Given the description of an element on the screen output the (x, y) to click on. 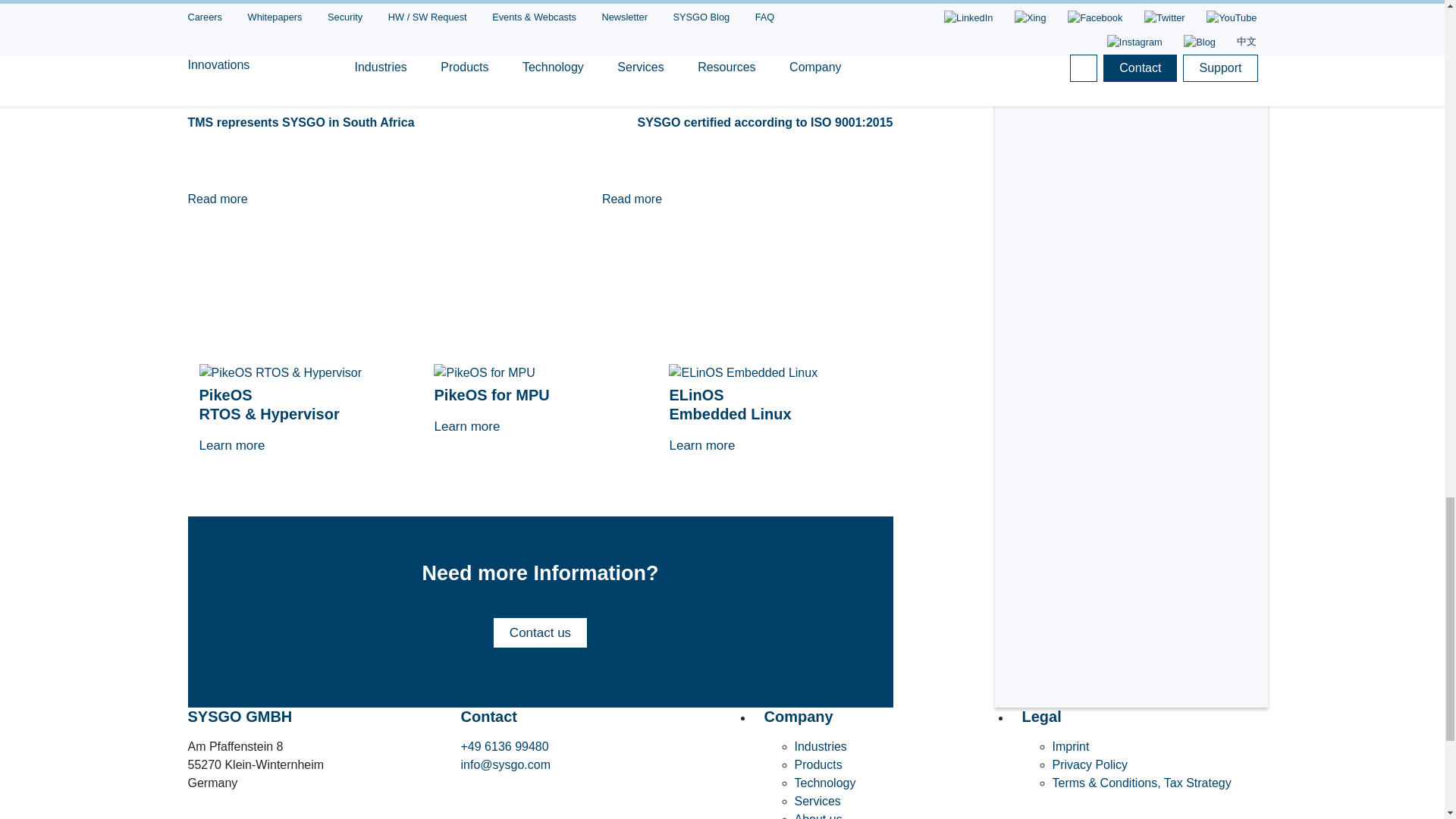
SYSGO certified according to ISO 9001:2015 (722, 122)
TMS represents SYSGO in South Africa (333, 198)
SYSGO certified according to ISO 9001:2015 (747, 198)
TMS represents SYSGO in South Africa (358, 122)
